Given the description of an element on the screen output the (x, y) to click on. 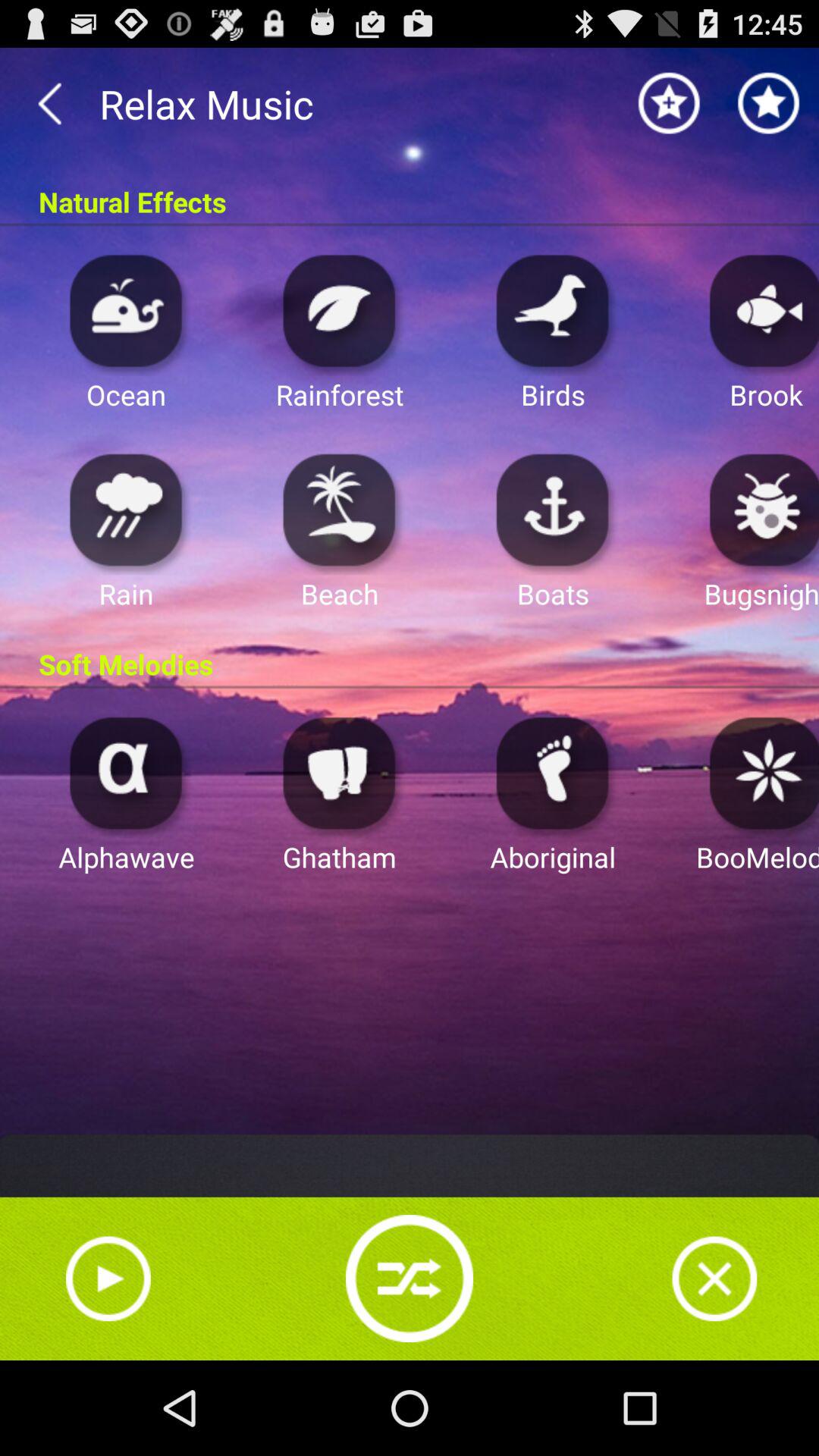
turn off the icon below the boomelody item (714, 1278)
